Given the description of an element on the screen output the (x, y) to click on. 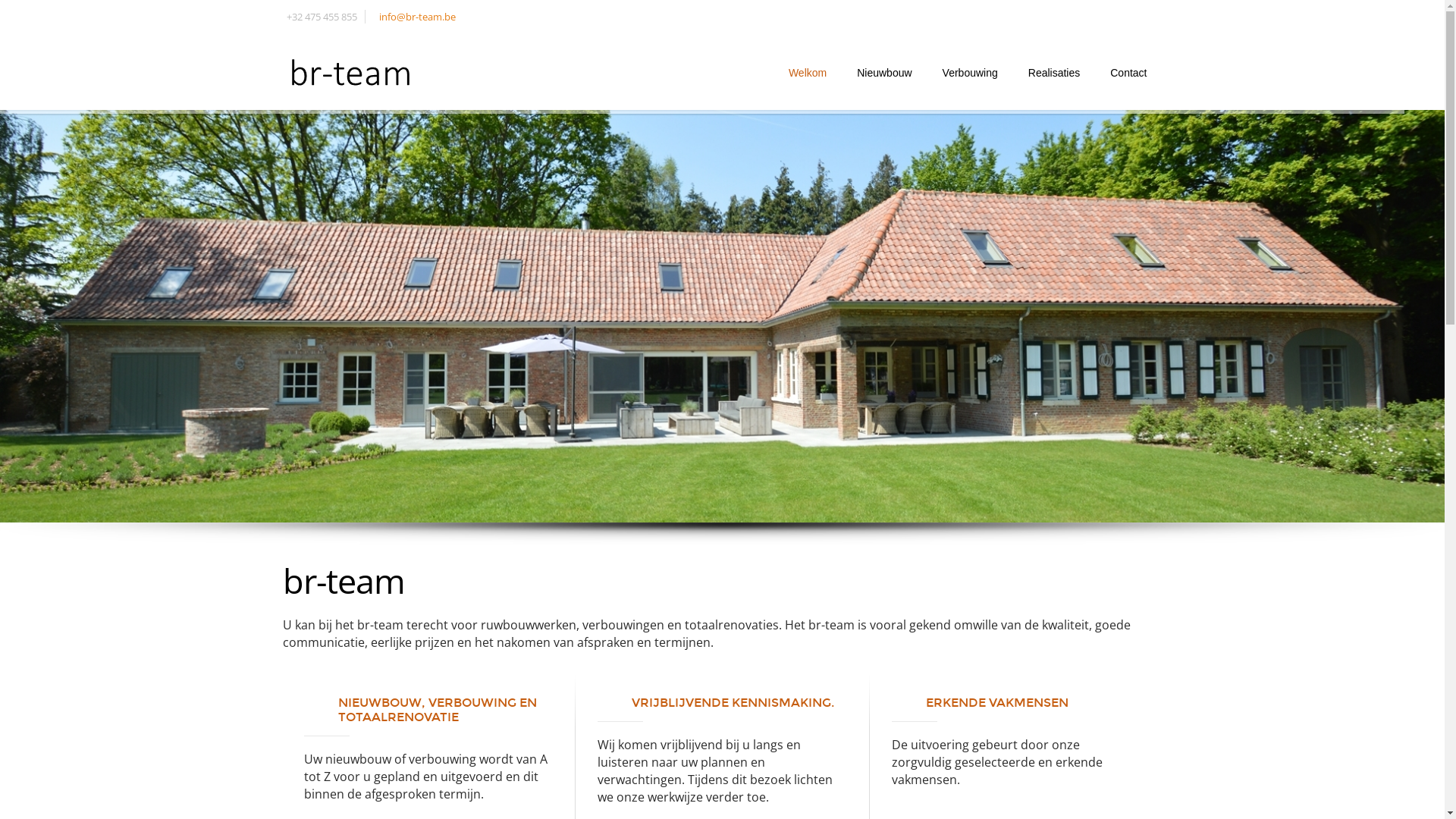
Contact Element type: text (1128, 72)
Realisaties Element type: text (1053, 72)
Welkom Element type: text (807, 72)
info@br-team.be Element type: text (417, 16)
Verbouwing Element type: text (969, 72)
Nieuwbouw Element type: text (883, 72)
